Given the description of an element on the screen output the (x, y) to click on. 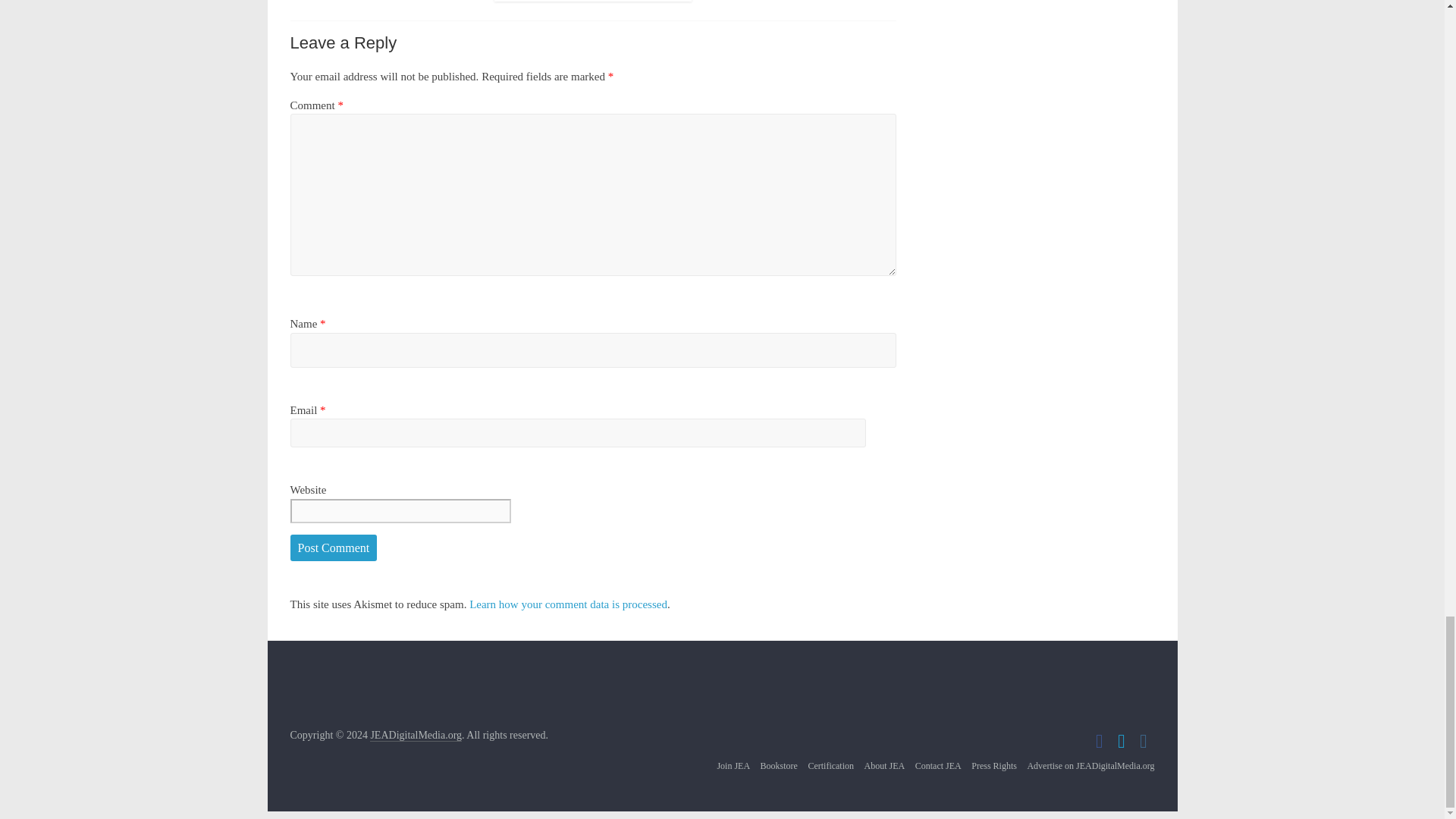
Post Comment (333, 547)
